Given the description of an element on the screen output the (x, y) to click on. 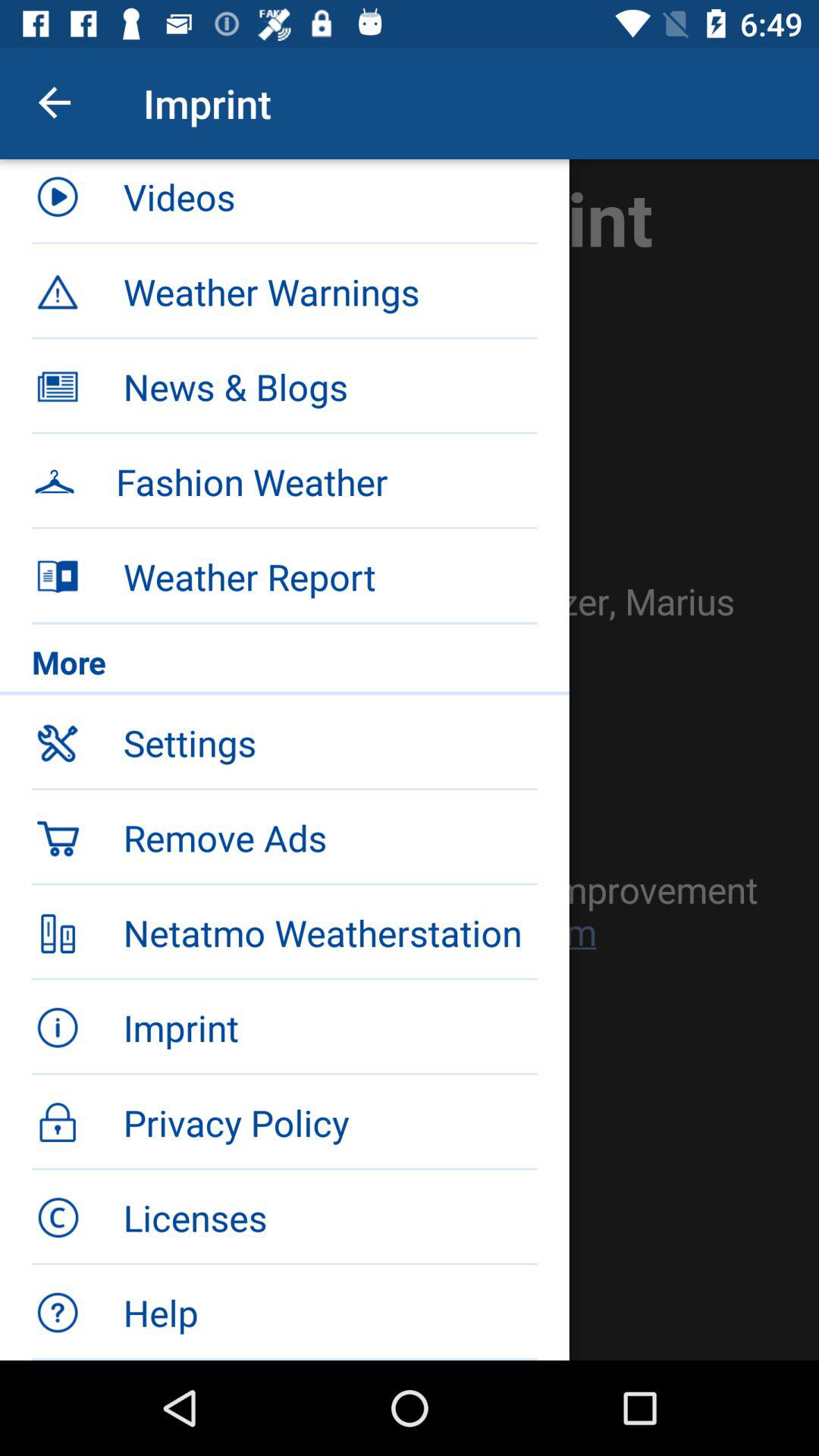
turn off icon below the licenses (330, 1312)
